Given the description of an element on the screen output the (x, y) to click on. 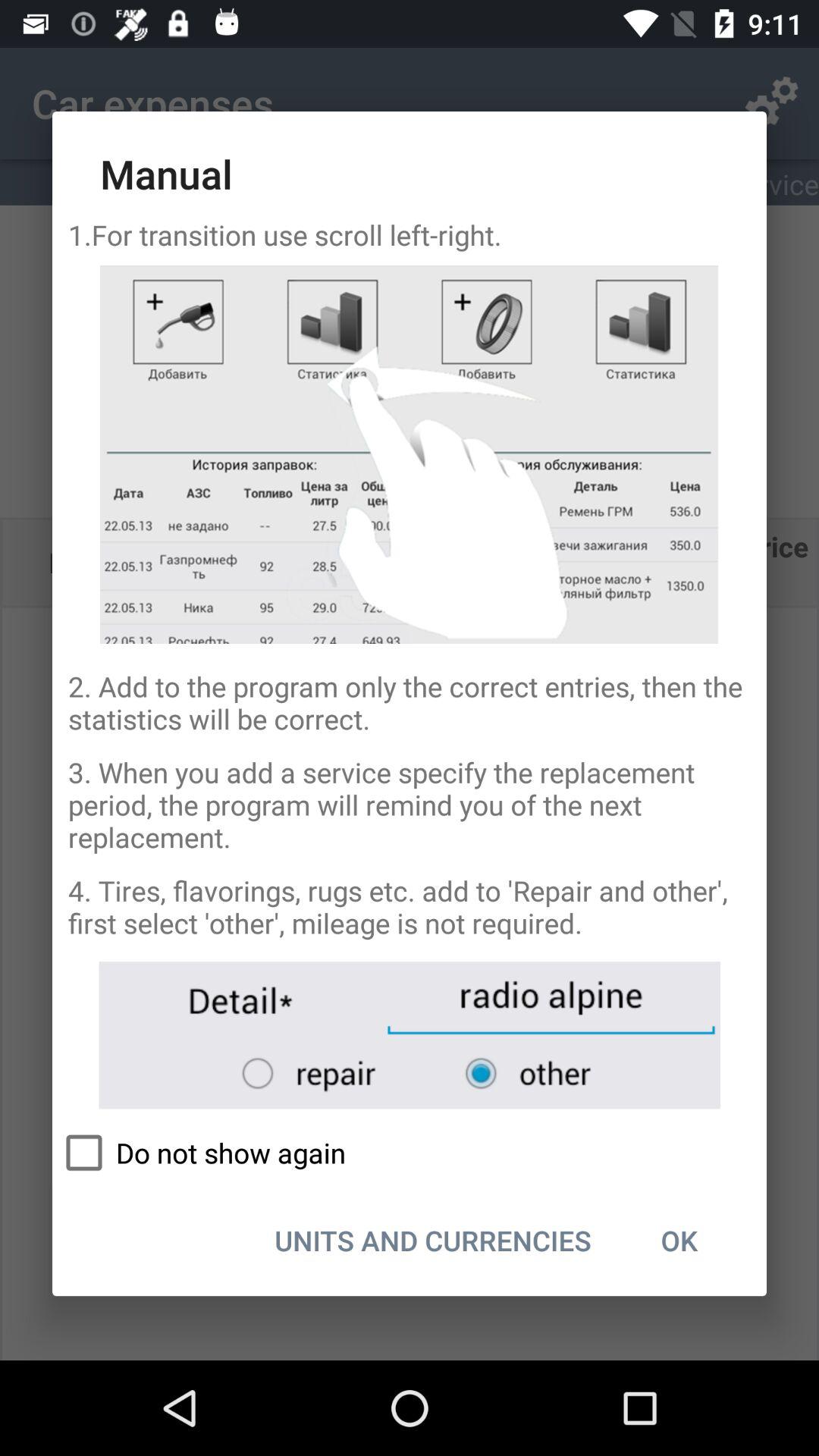
press the units and currencies icon (432, 1240)
